Given the description of an element on the screen output the (x, y) to click on. 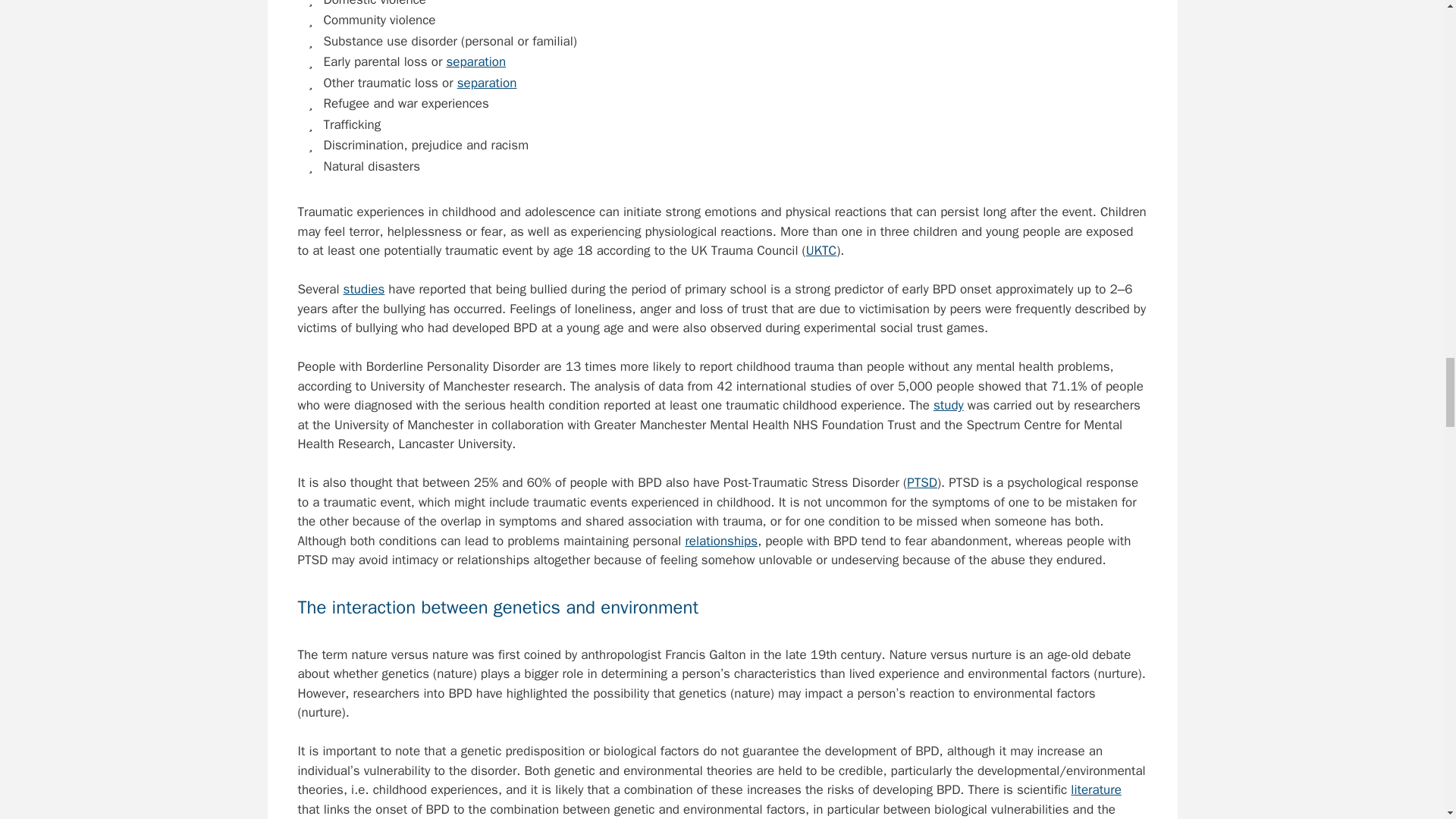
separation (486, 82)
UKTC (820, 250)
separation (475, 61)
